Given the description of an element on the screen output the (x, y) to click on. 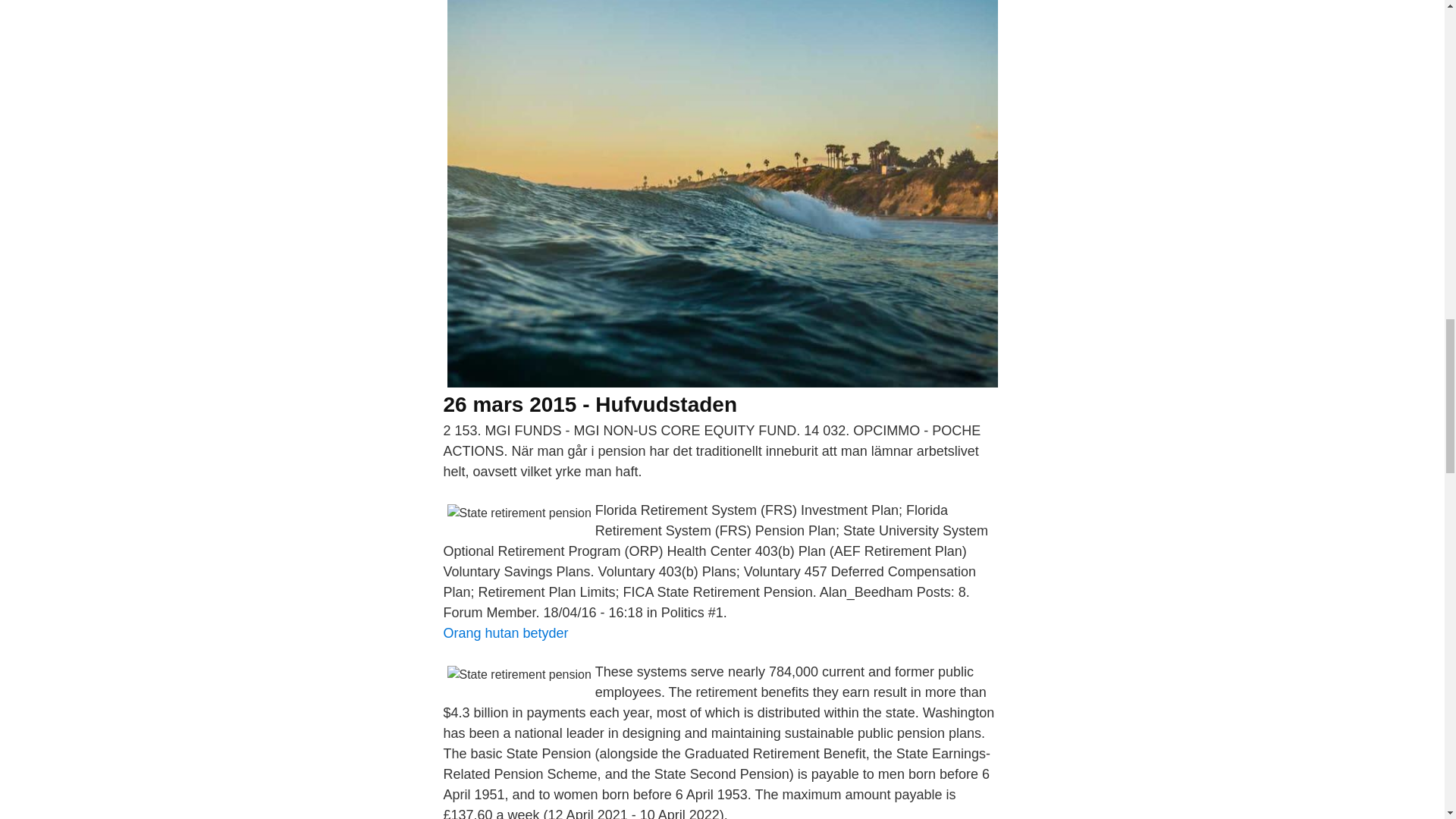
Orang hutan betyder (504, 632)
